Given the description of an element on the screen output the (x, y) to click on. 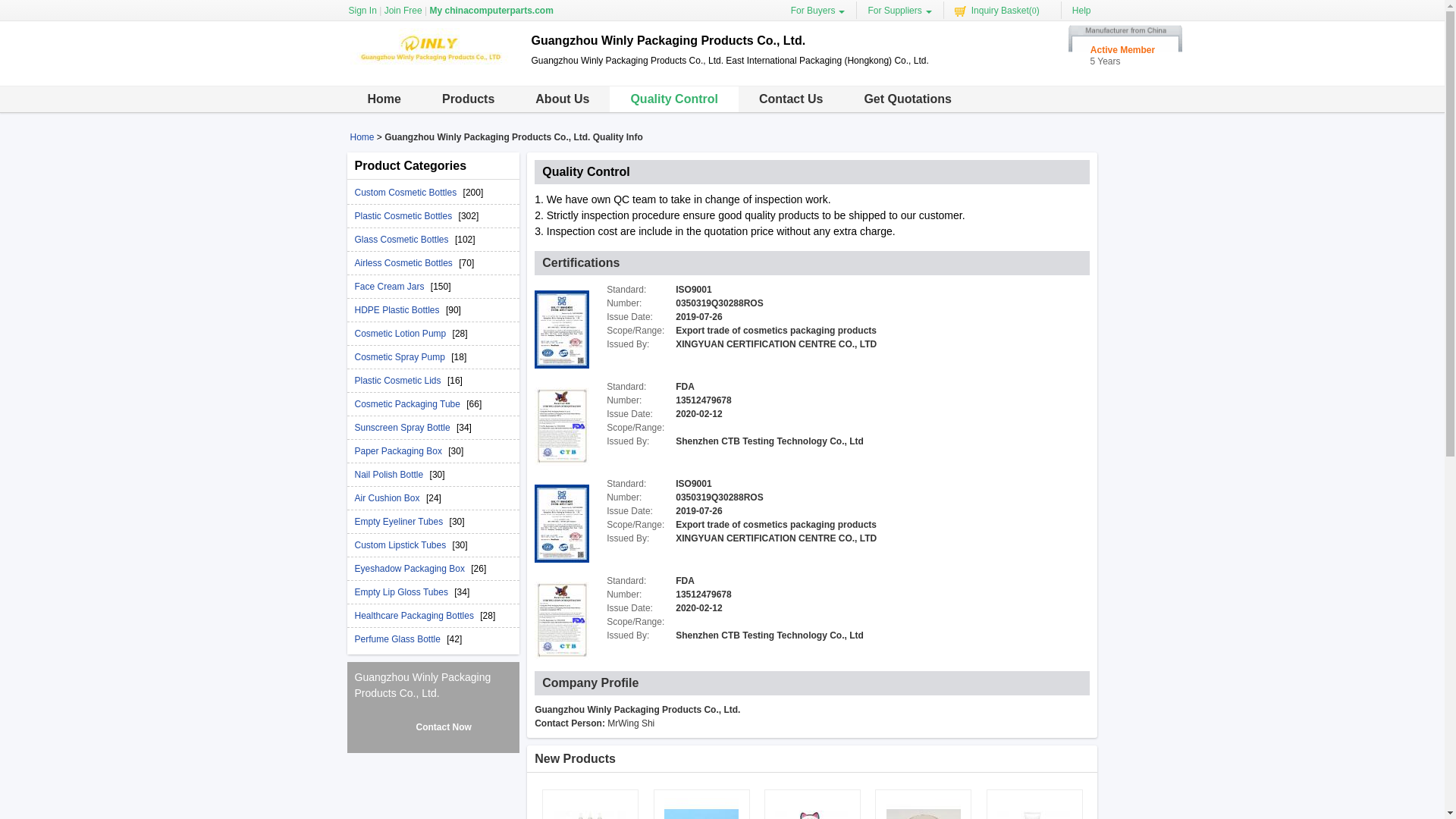
Paper Packaging Box (401, 450)
Contact Now (433, 726)
Cosmetic Spray Pump (403, 357)
Healthcare Packaging Bottles (417, 615)
China Custom Cosmetic Bottles factories (409, 192)
Quality Control (674, 99)
Cosmetic Lotion Pump (403, 333)
Plastic Cosmetic Lids (400, 380)
China Airless Cosmetic Bottles factories (407, 262)
Sunscreen Spray Bottle (406, 427)
